Given the description of an element on the screen output the (x, y) to click on. 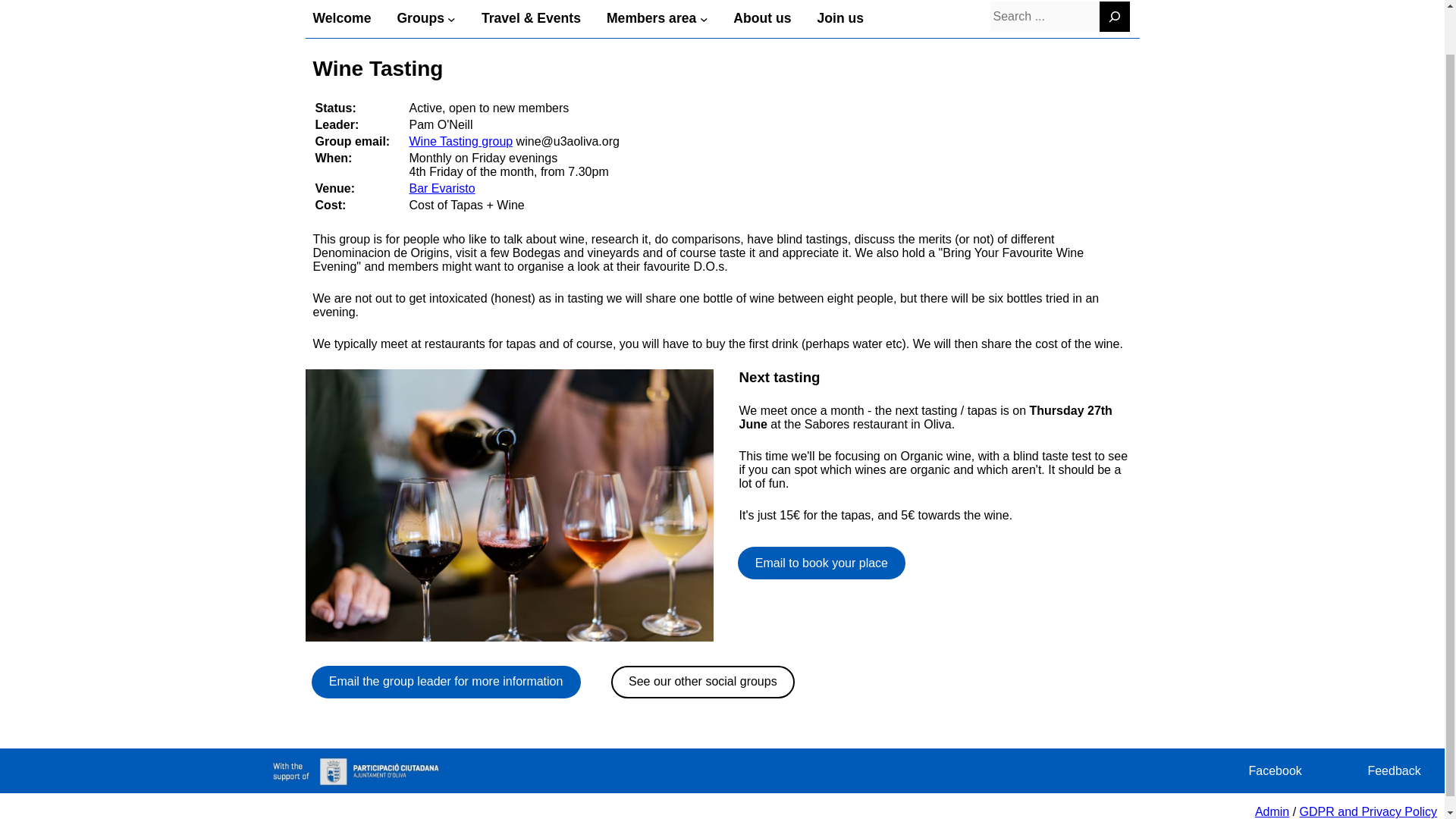
Groups (420, 18)
Admin (1271, 811)
Opens your email app (461, 141)
About us (761, 18)
Welcome (342, 18)
Feedback (1393, 770)
Members area (651, 18)
Email the group leader for more information (445, 681)
Wine Tasting group (461, 141)
GDPR and Privacy Policy (1368, 811)
